Given the description of an element on the screen output the (x, y) to click on. 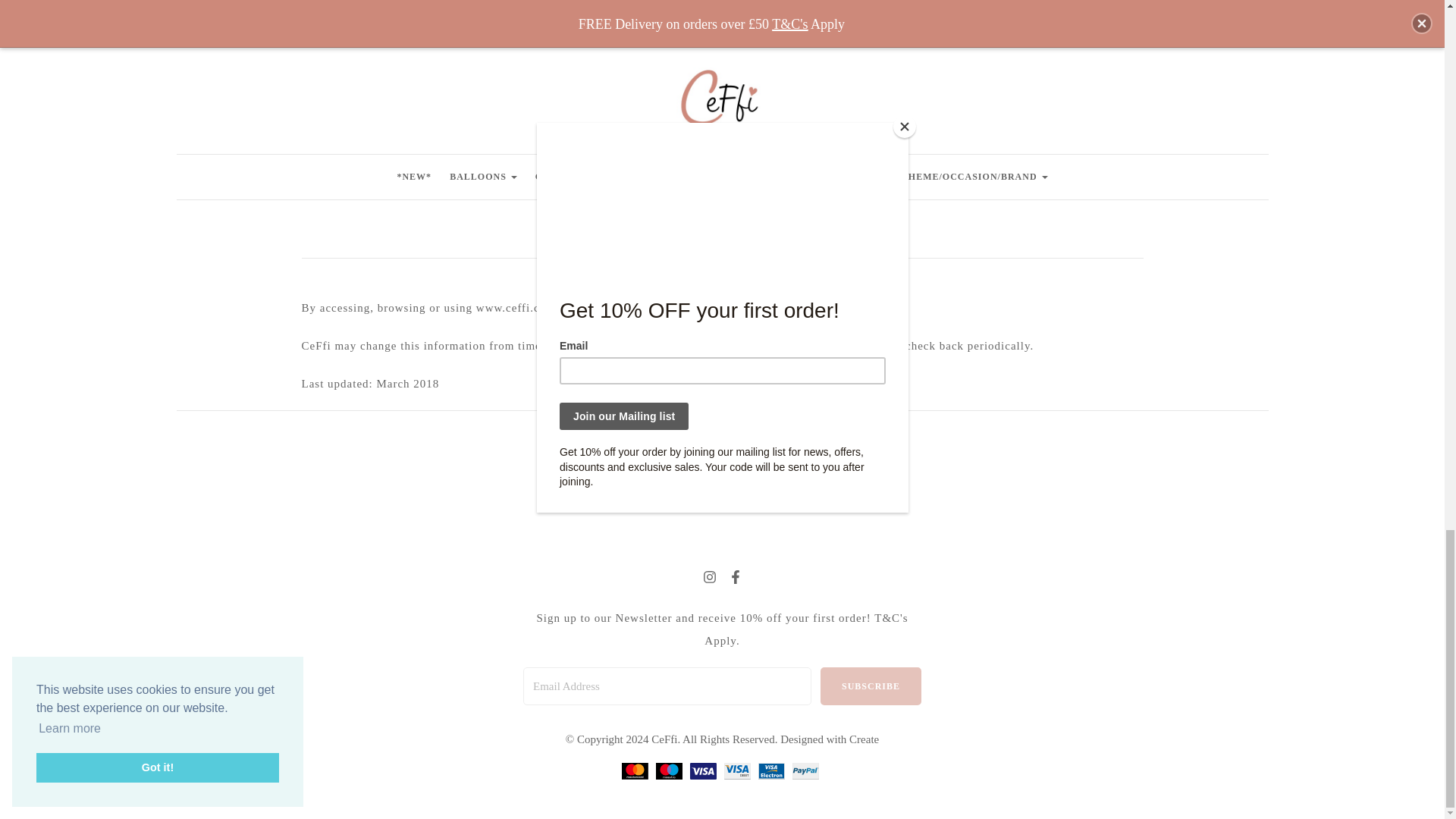
facebook (734, 578)
instagram (708, 578)
